Given the description of an element on the screen output the (x, y) to click on. 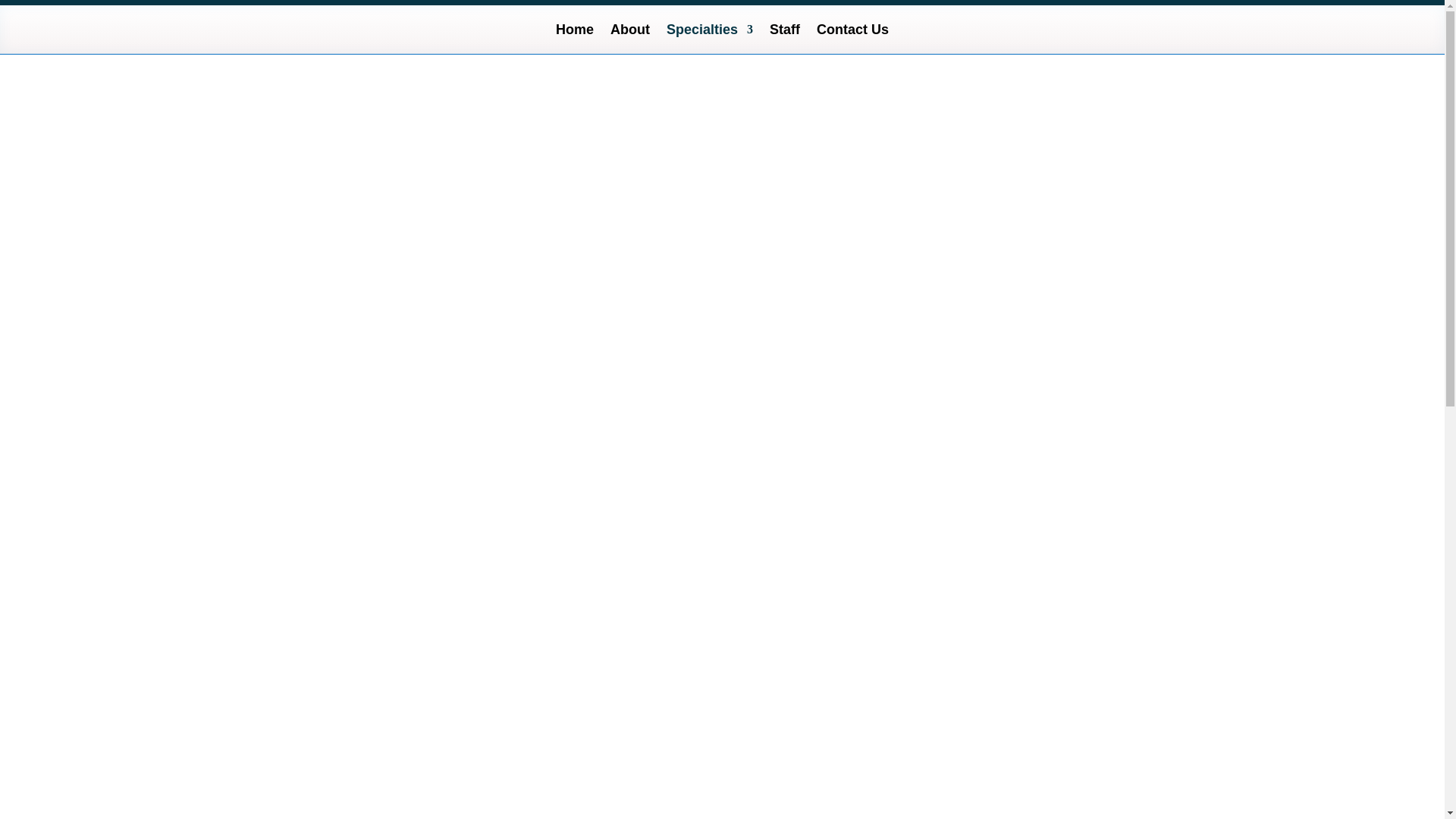
Home (575, 32)
Contact Us (852, 32)
Specialties (709, 32)
Staff (784, 32)
About (629, 32)
